Given the description of an element on the screen output the (x, y) to click on. 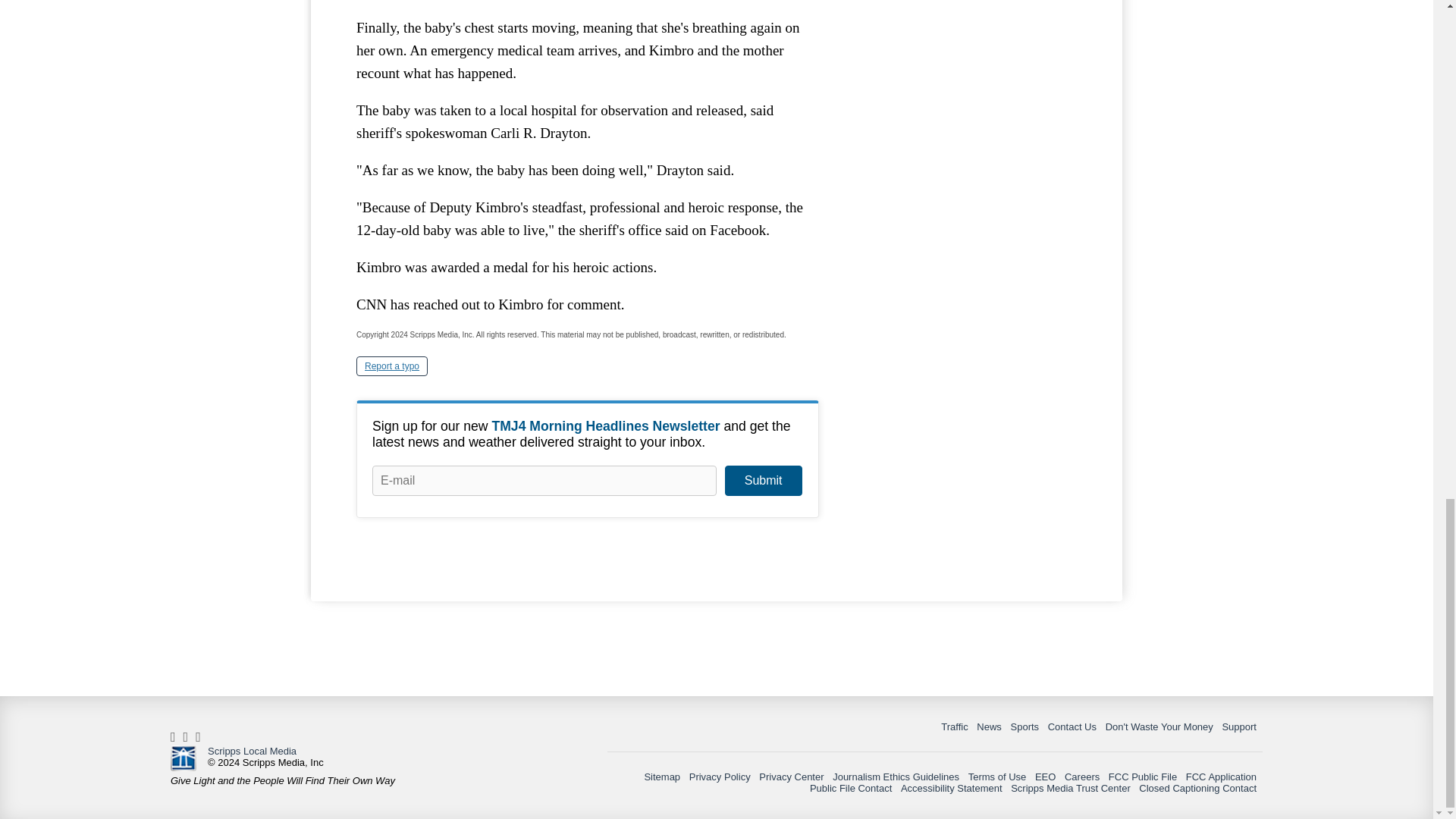
Submit (763, 481)
